Given the description of an element on the screen output the (x, y) to click on. 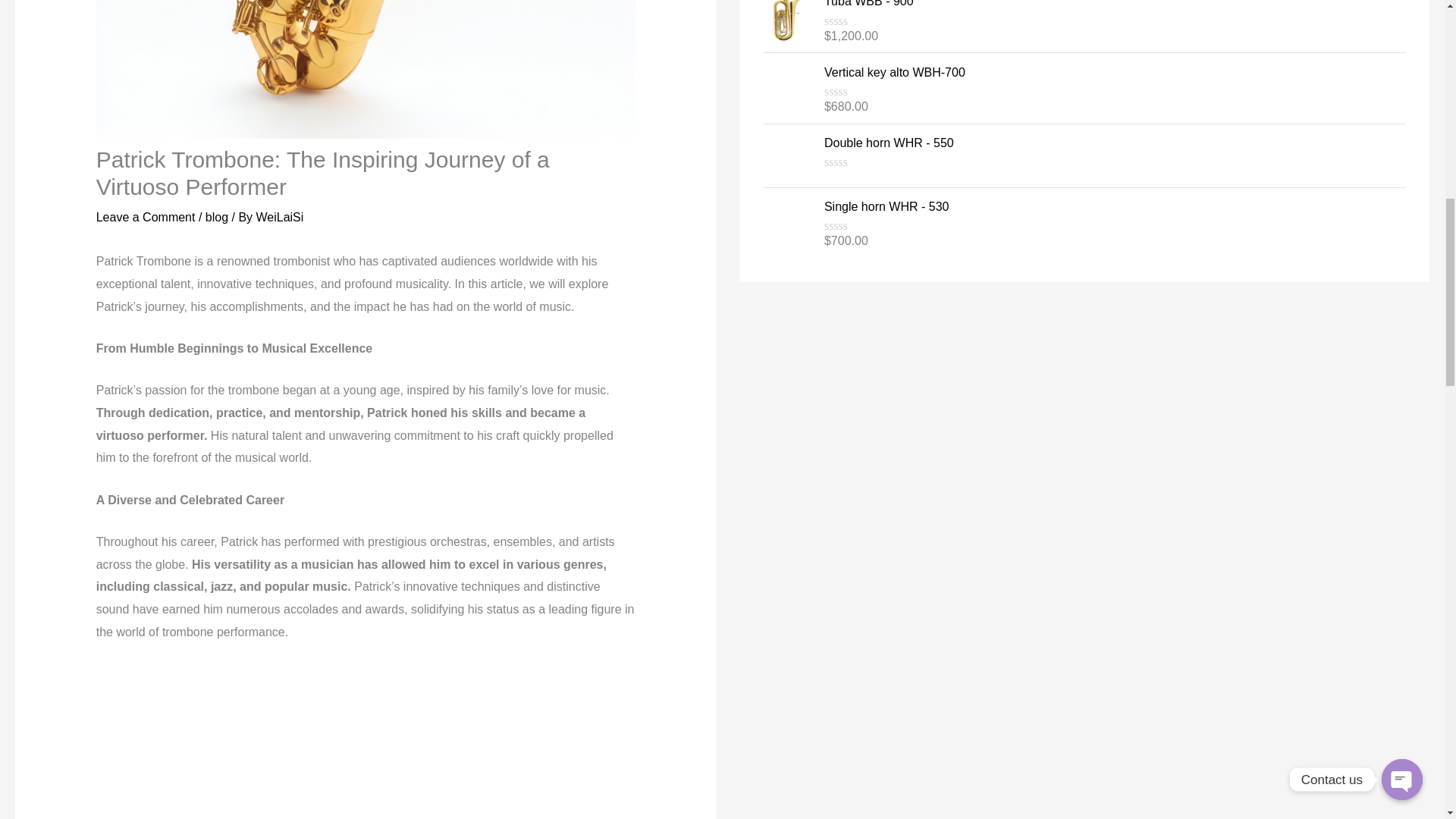
View all posts by WeiLaiSi (280, 216)
Leave a Comment (145, 216)
blog (216, 216)
WeiLaiSi (280, 216)
